Given the description of an element on the screen output the (x, y) to click on. 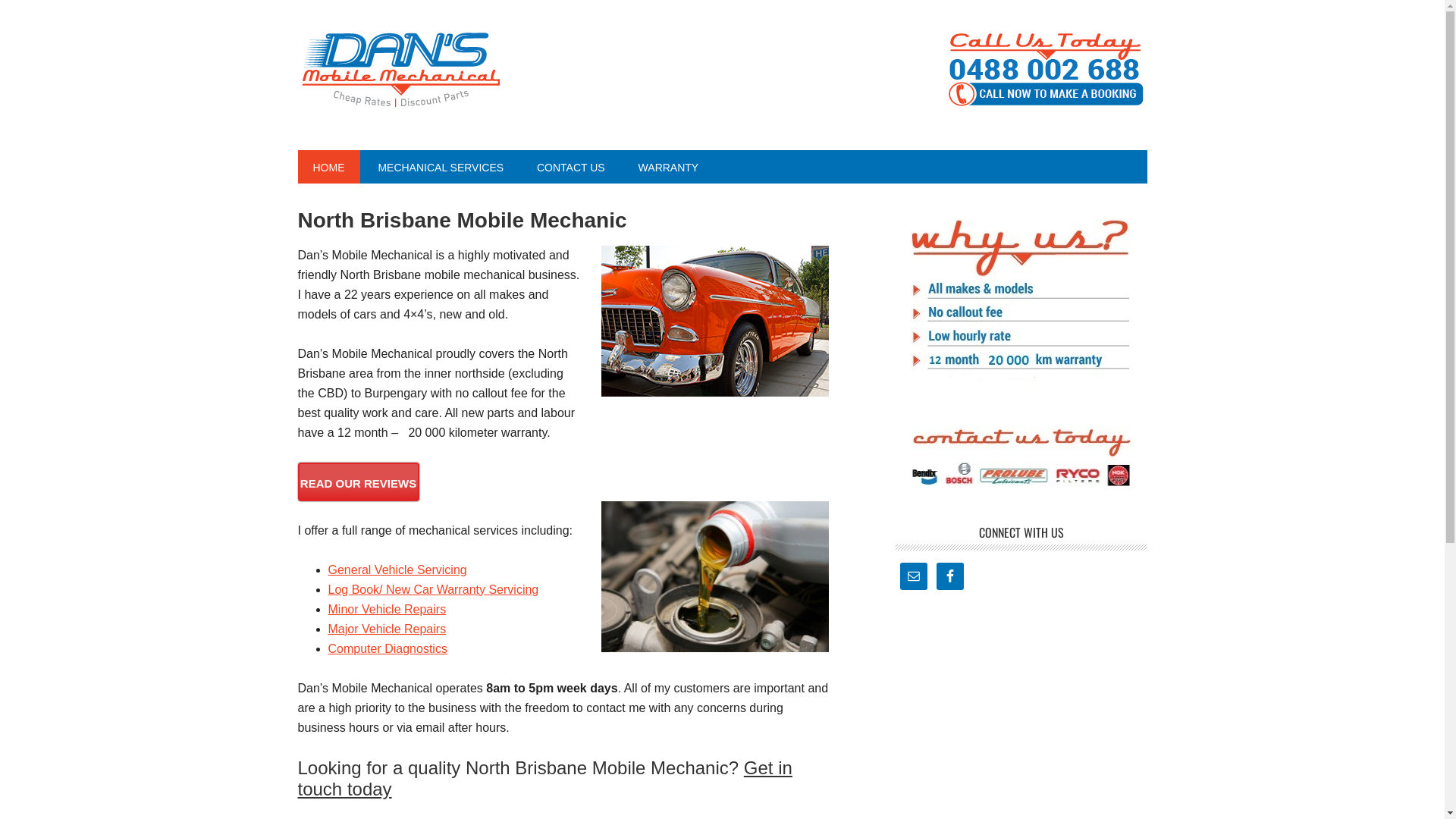
DANS MOBILE MECHANICAL Element type: text (399, 69)
WARRANTY Element type: text (668, 166)
CONTACT US Element type: text (570, 166)
HOME Element type: text (328, 166)
Log Book/ New Car Warranty Servicing Element type: text (432, 589)
Computer Diagnostics Element type: text (386, 648)
READ OUR REVIEWS Element type: text (357, 481)
Get in touch today Element type: text (544, 778)
Major Vehicle Repairs Element type: text (386, 628)
MECHANICAL SERVICES Element type: text (440, 166)
Minor Vehicle Repairs Element type: text (386, 608)
General Vehicle Servicing Element type: text (396, 569)
CallUsToday Element type: hover (1043, 69)
